Given the description of an element on the screen output the (x, y) to click on. 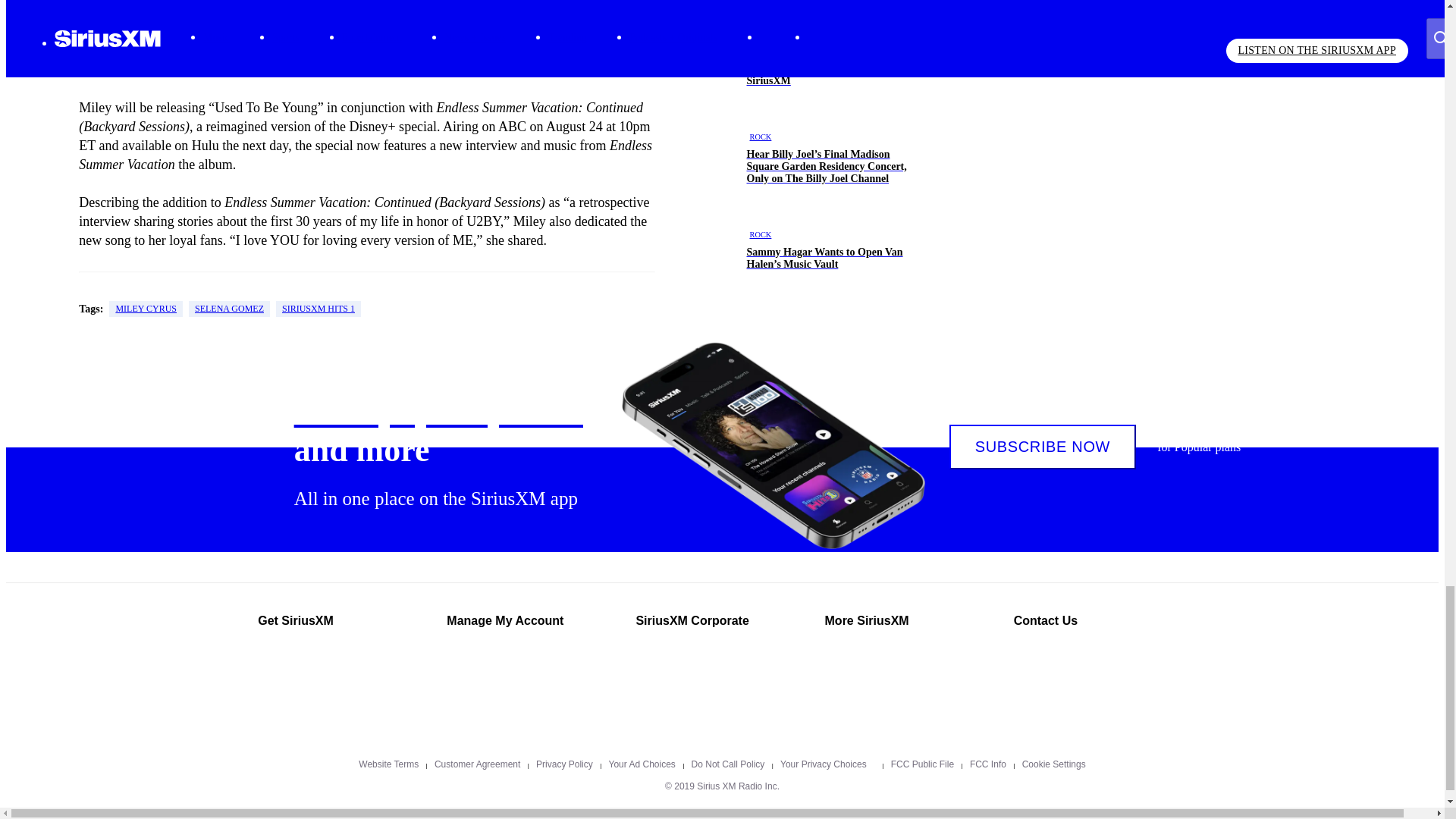
SELENA GOMEZ (229, 308)
August 16, 2023 (353, 39)
MILEY CYRUS (146, 308)
SIRIUSXM HITS 1 (318, 308)
